Given the description of an element on the screen output the (x, y) to click on. 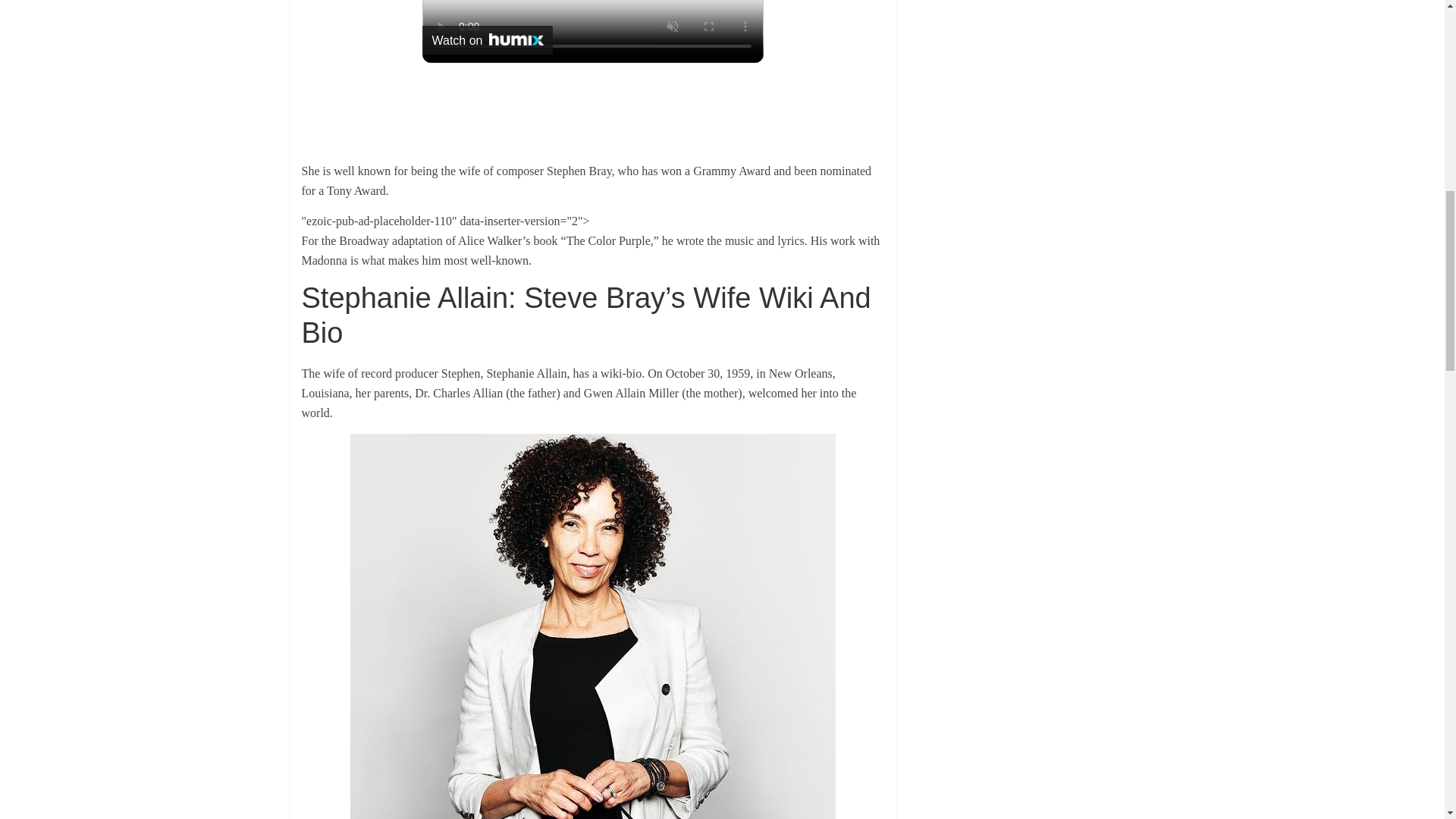
Watch on (487, 39)
